Given the description of an element on the screen output the (x, y) to click on. 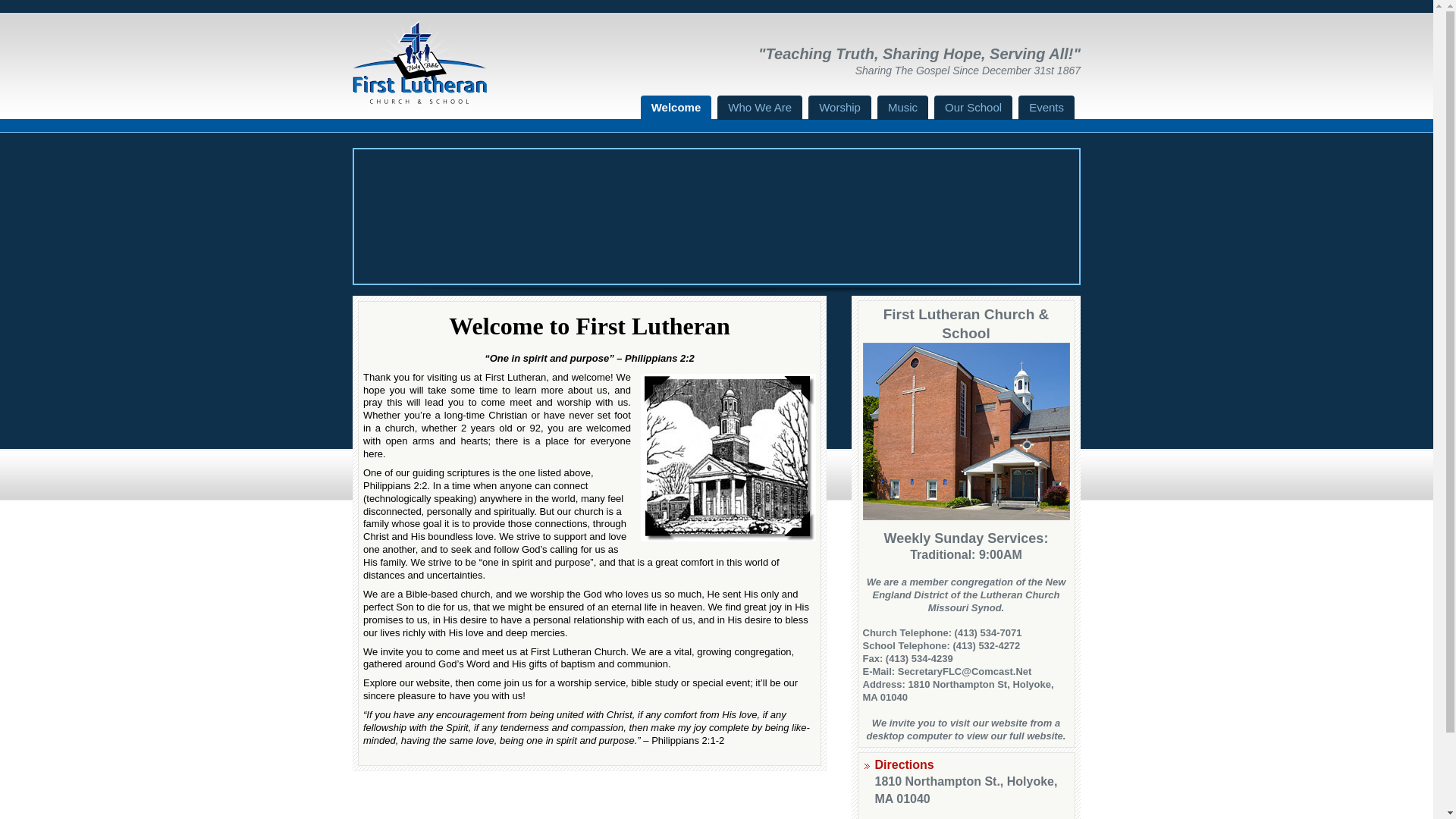
Skip To Content (668, 109)
Our School (972, 107)
Music (902, 107)
Who We Are (759, 107)
Worship (839, 107)
Skip to content (668, 109)
Welcome (675, 107)
Events (1045, 107)
